Given the description of an element on the screen output the (x, y) to click on. 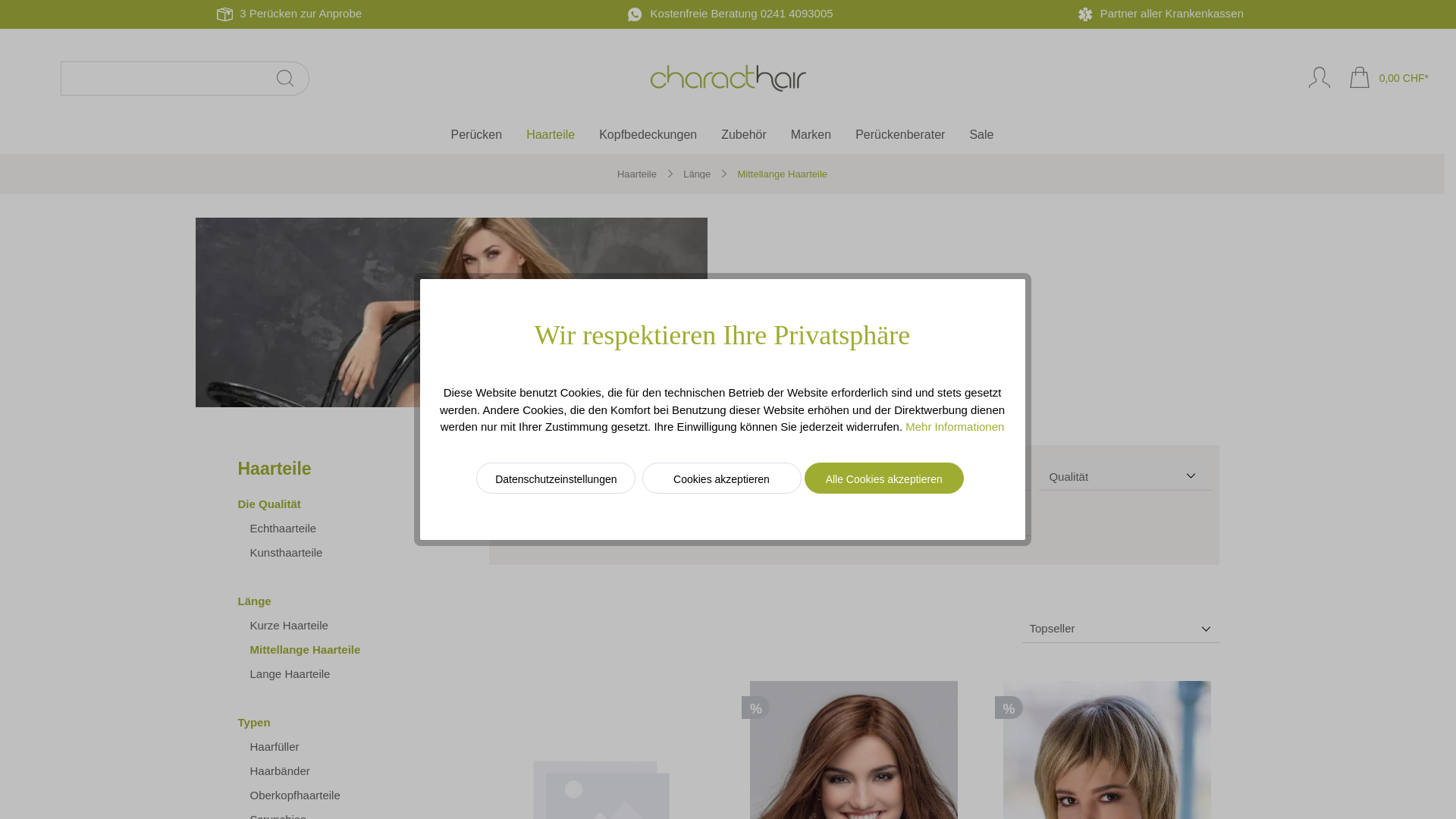
Mehr Informationen Element type: text (954, 426)
Cookies akzeptieren Element type: text (720, 477)
Kostenfreie Beratung 0241 4093005 Element type: text (741, 12)
Alle Cookies akzeptieren Element type: text (883, 477)
Haarteile Element type: text (327, 468)
Lange Haarteile Element type: text (333, 674)
Verarbeitung Element type: text (763, 520)
Mein Konto Element type: hover (1319, 78)
Echthaarteile Element type: text (333, 528)
Haarteile Element type: text (562, 136)
Marken Element type: text (822, 136)
Struktur Element type: text (582, 520)
Sale Element type: text (981, 136)
Kurze Haarteile Element type: text (333, 625)
Mittellange Haarteile Element type: text (333, 649)
0,00 CHF* Element type: text (1388, 78)
Mittellange Haarteile Element type: text (782, 173)
Hersteller Element type: text (763, 475)
Oberkopfhaarteile Element type: text (333, 795)
Haarteile Element type: text (636, 173)
Kunsthaarteile Element type: text (333, 552)
Preis Element type: text (943, 520)
Datenschutzeinstellungen Element type: text (555, 477)
Kopfbedeckungen Element type: text (660, 136)
Geschlecht Element type: text (582, 475)
